Given the description of an element on the screen output the (x, y) to click on. 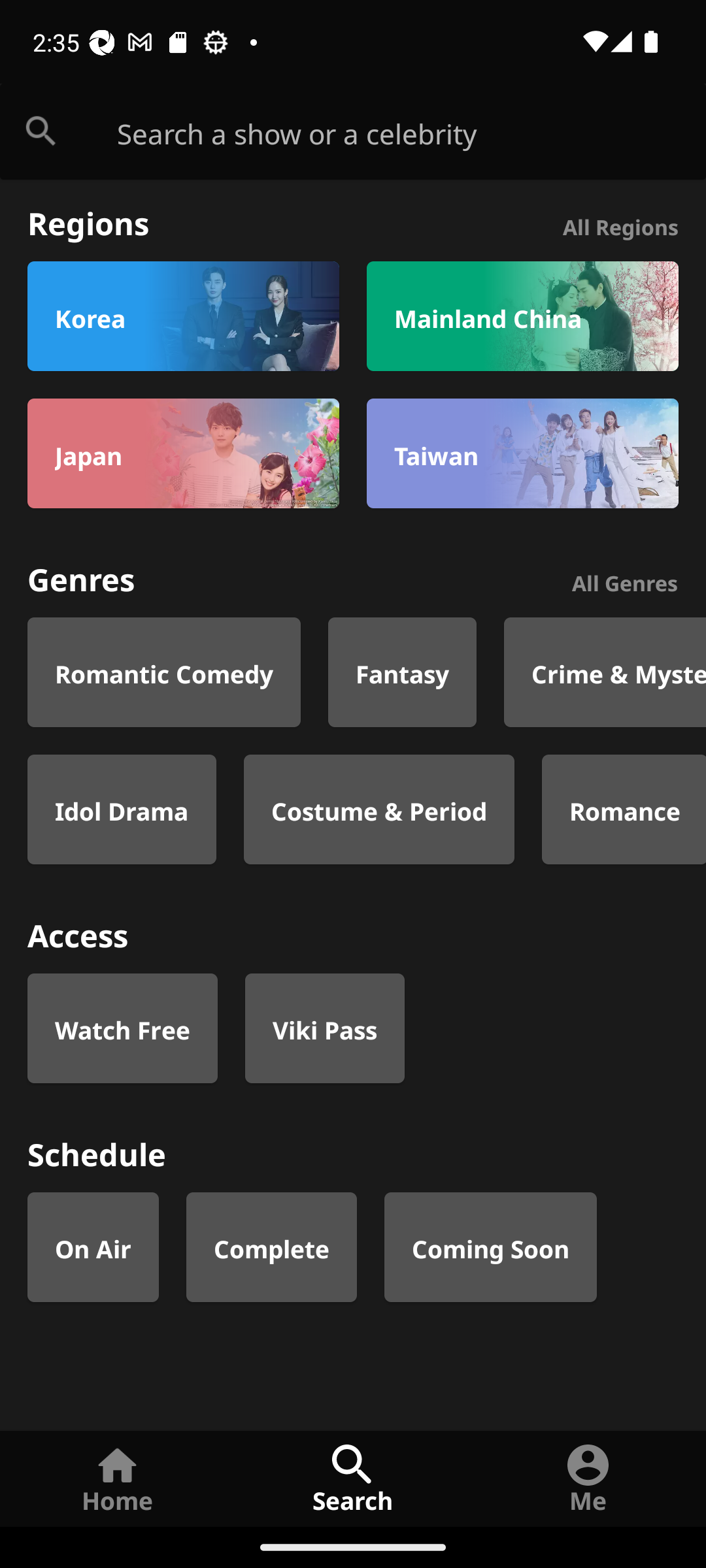
Search a show or a celebrity (411, 131)
All Regions (620, 224)
filter_region_kr Korea (183, 316)
filter_region_cn Mainland China (522, 316)
filter_region_jp Japan (183, 453)
filter_region_tw Taiwan (522, 453)
All Genres (624, 580)
filter_genre_18g Romantic Comedy (163, 672)
filter_genre_19g Fantasy (402, 672)
filter_genre_7g Crime & Mystery (605, 672)
filter_genre_1038g Idol Drama (121, 808)
filter_genre_25g Costume & Period (378, 808)
filter_genre_1068g Romance (624, 808)
filter_access_watch_free Watch Free (122, 1028)
filter_access_vikipass Viki Pass (324, 1028)
filter_schedule_on_air On Air (92, 1246)
filter_schedule_complete Complete (271, 1246)
filter_schedule_coming_soon Coming Soon (490, 1246)
Home (117, 1478)
Me (588, 1478)
